Given the description of an element on the screen output the (x, y) to click on. 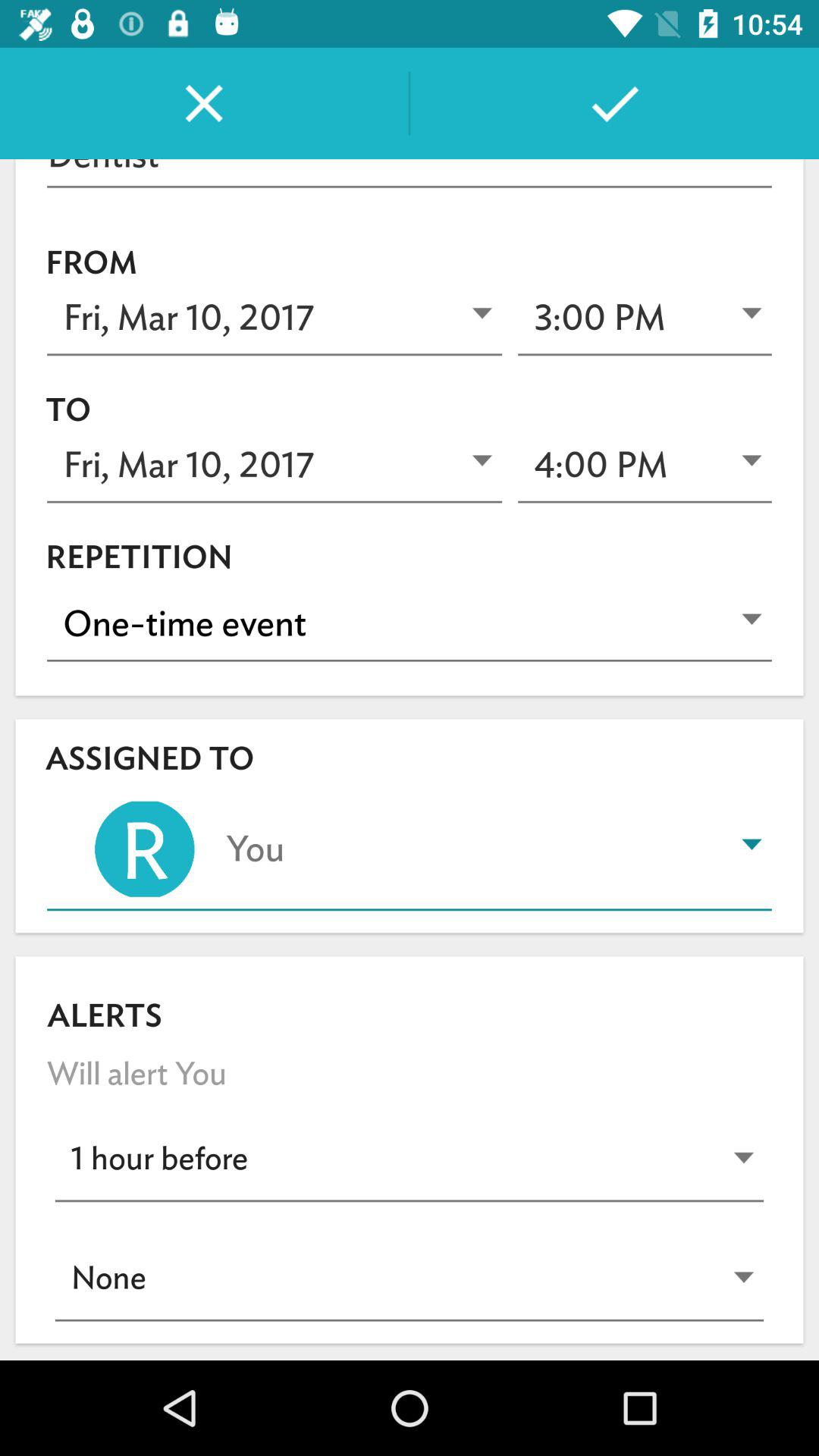
click on the button which is top right of the page (614, 103)
select the close icon (204, 103)
select the last dropdown (409, 1281)
